Given the description of an element on the screen output the (x, y) to click on. 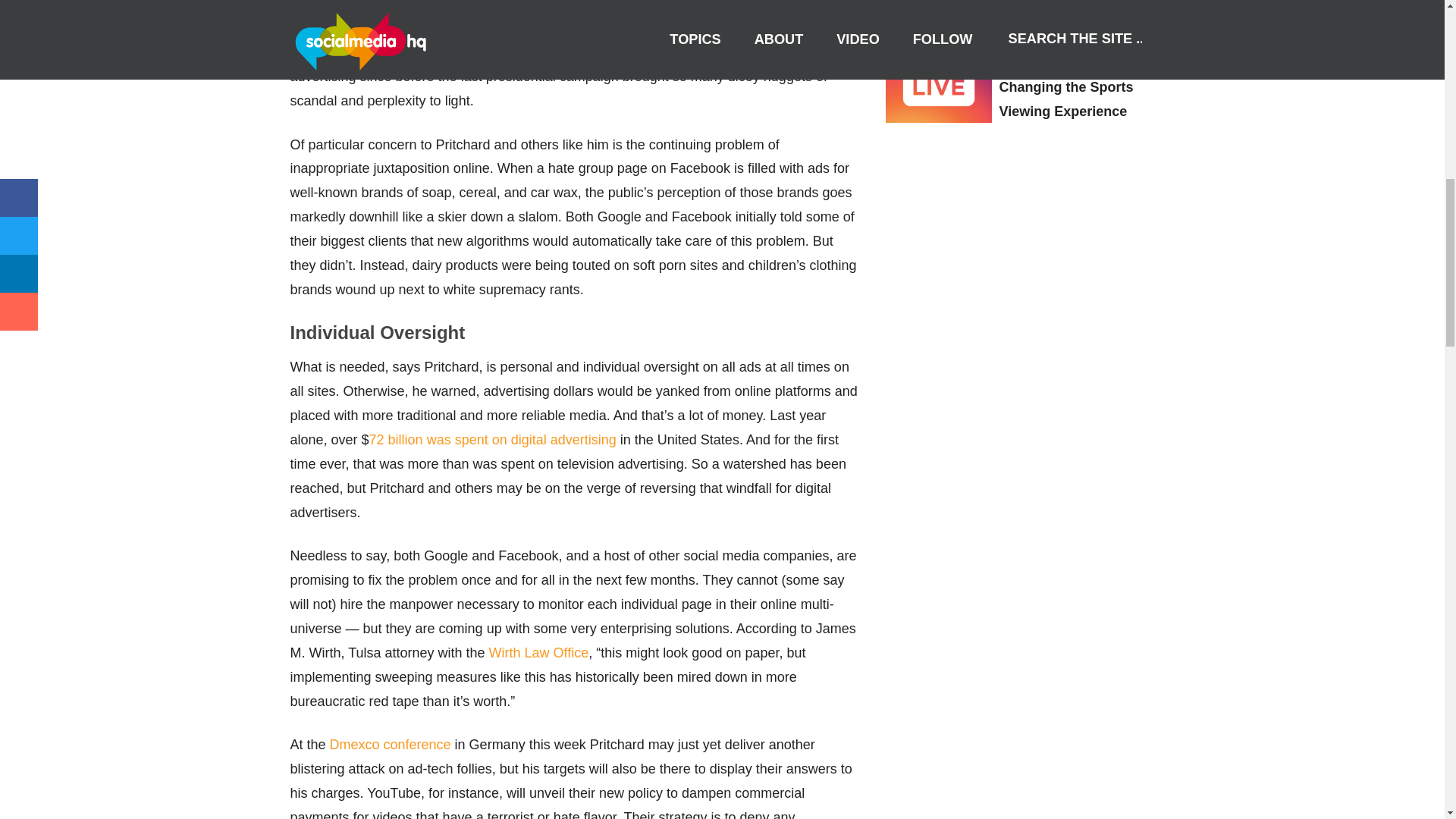
What To Do When Your Social Media Account Gets Hacked (1073, 15)
72 billion was spent on digital advertising (492, 439)
How Social Media is Changing the Sports Viewing Experience (1066, 86)
Dmexco conference (390, 744)
Wirth Law Office (539, 652)
